Given the description of an element on the screen output the (x, y) to click on. 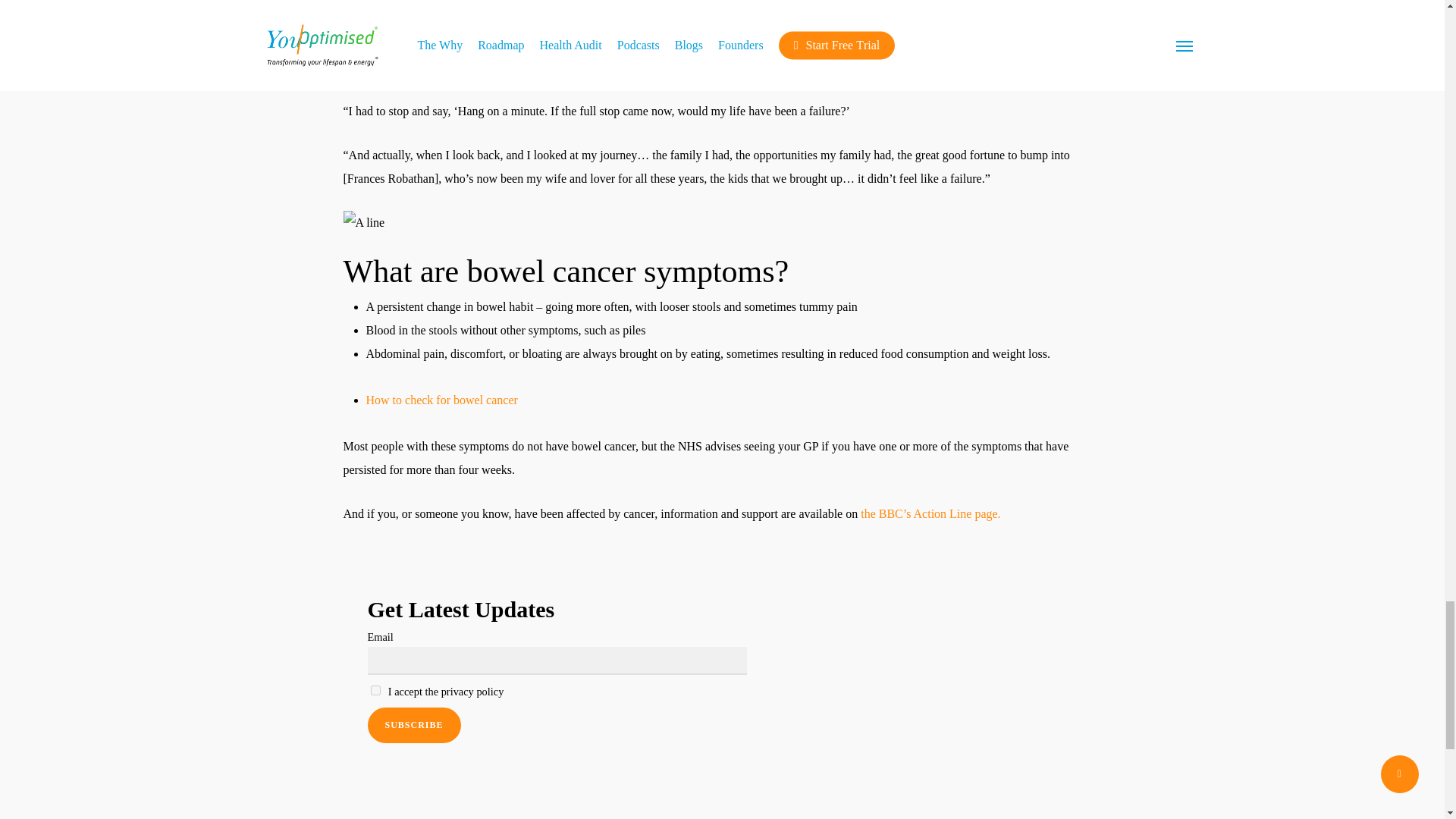
Subscribe (413, 724)
on (374, 690)
Subscribe (413, 724)
How to check for bowel cancer (440, 399)
